Given the description of an element on the screen output the (x, y) to click on. 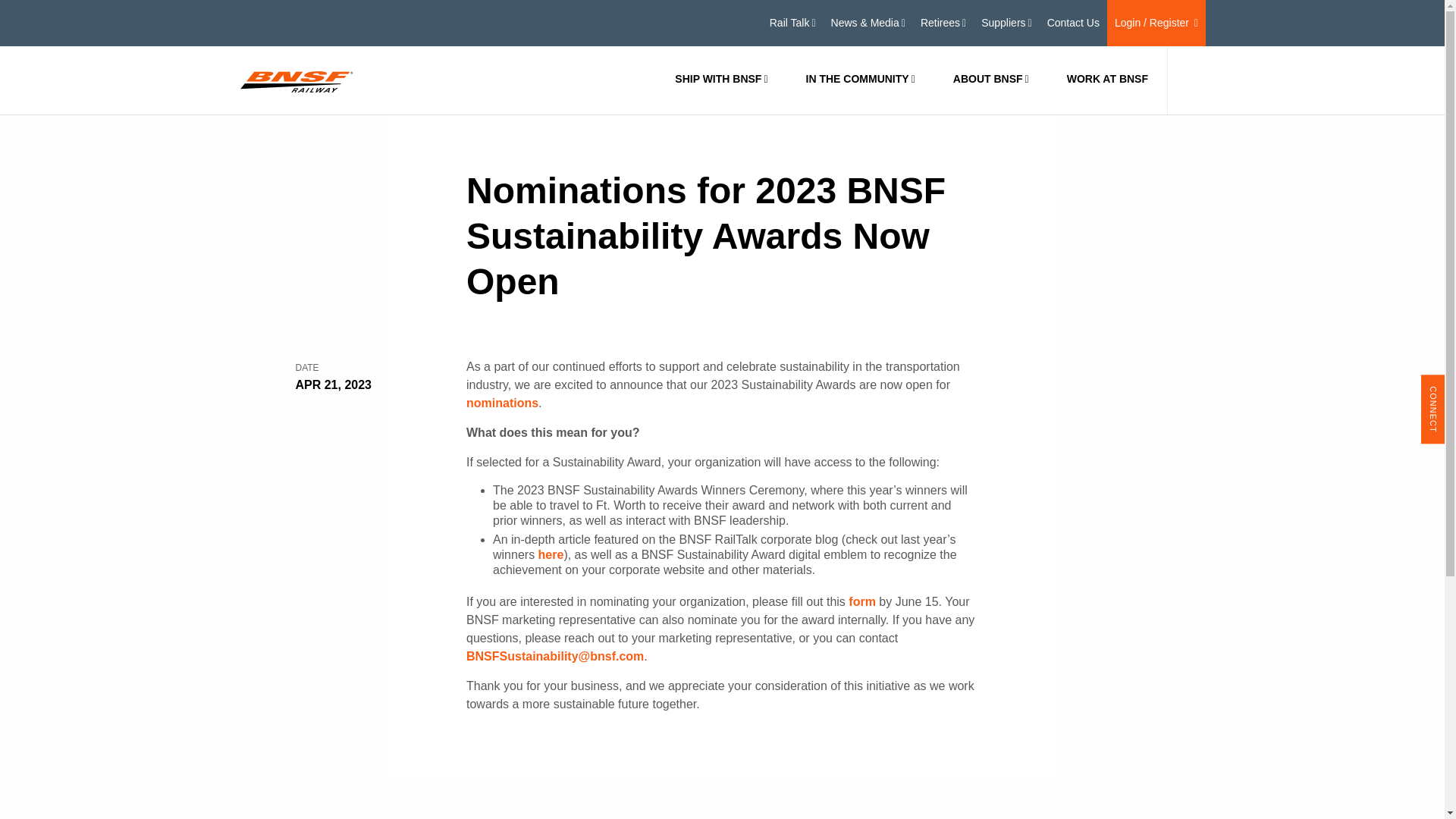
Retirees (943, 23)
Suppliers (1006, 23)
Rail Talk (792, 23)
